Given the description of an element on the screen output the (x, y) to click on. 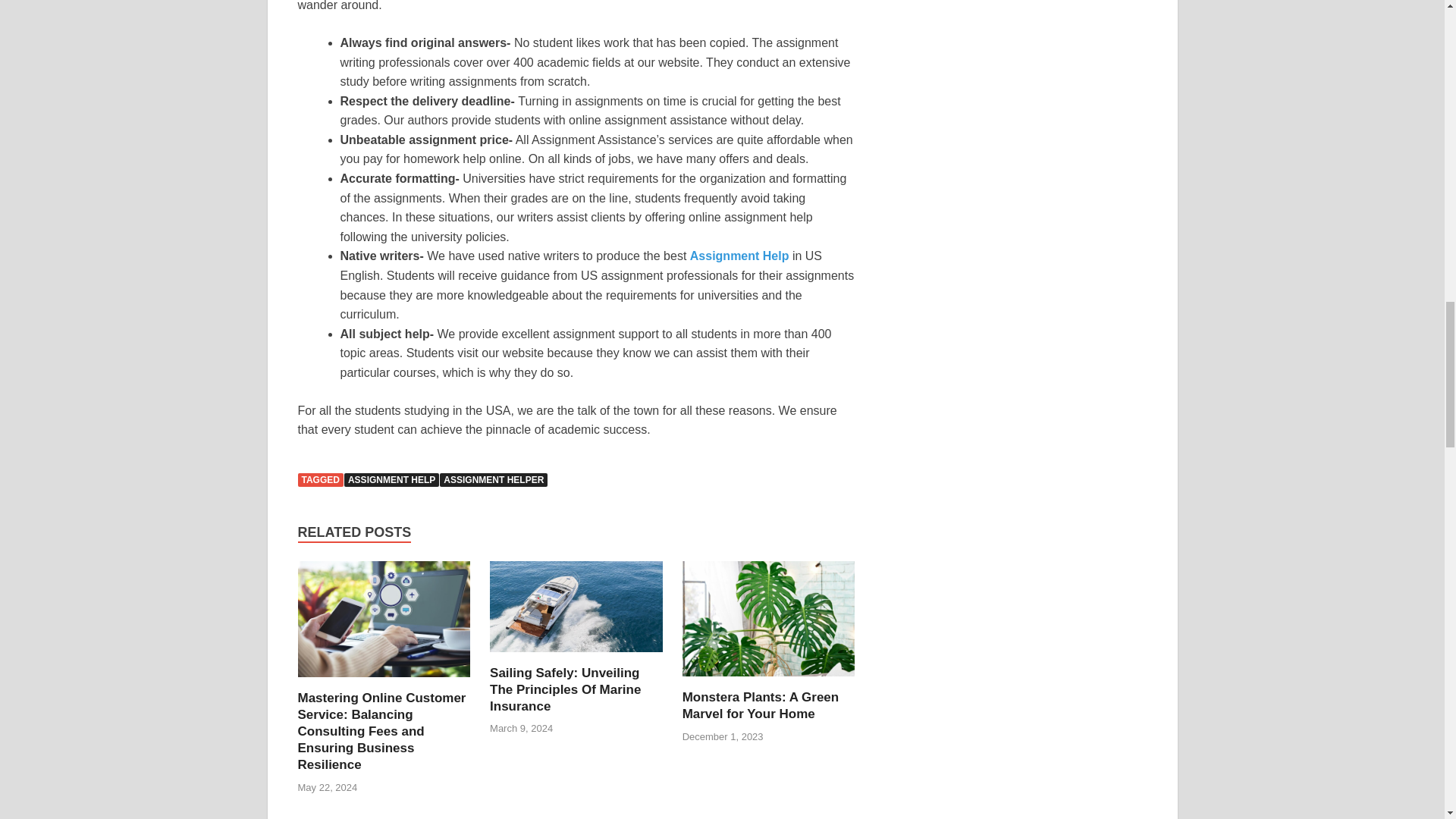
Assignment Help (739, 255)
ASSIGNMENT HELP (391, 479)
Sailing Safely: Unveiling The Principles Of Marine Insurance (575, 612)
Monstera Plants: A Green Marvel for Your Home (761, 705)
Sailing Safely: Unveiling The Principles Of Marine Insurance (564, 689)
Monstera Plants: A Green Marvel for Your Home (769, 624)
ASSIGNMENT HELPER (493, 479)
